Given the description of an element on the screen output the (x, y) to click on. 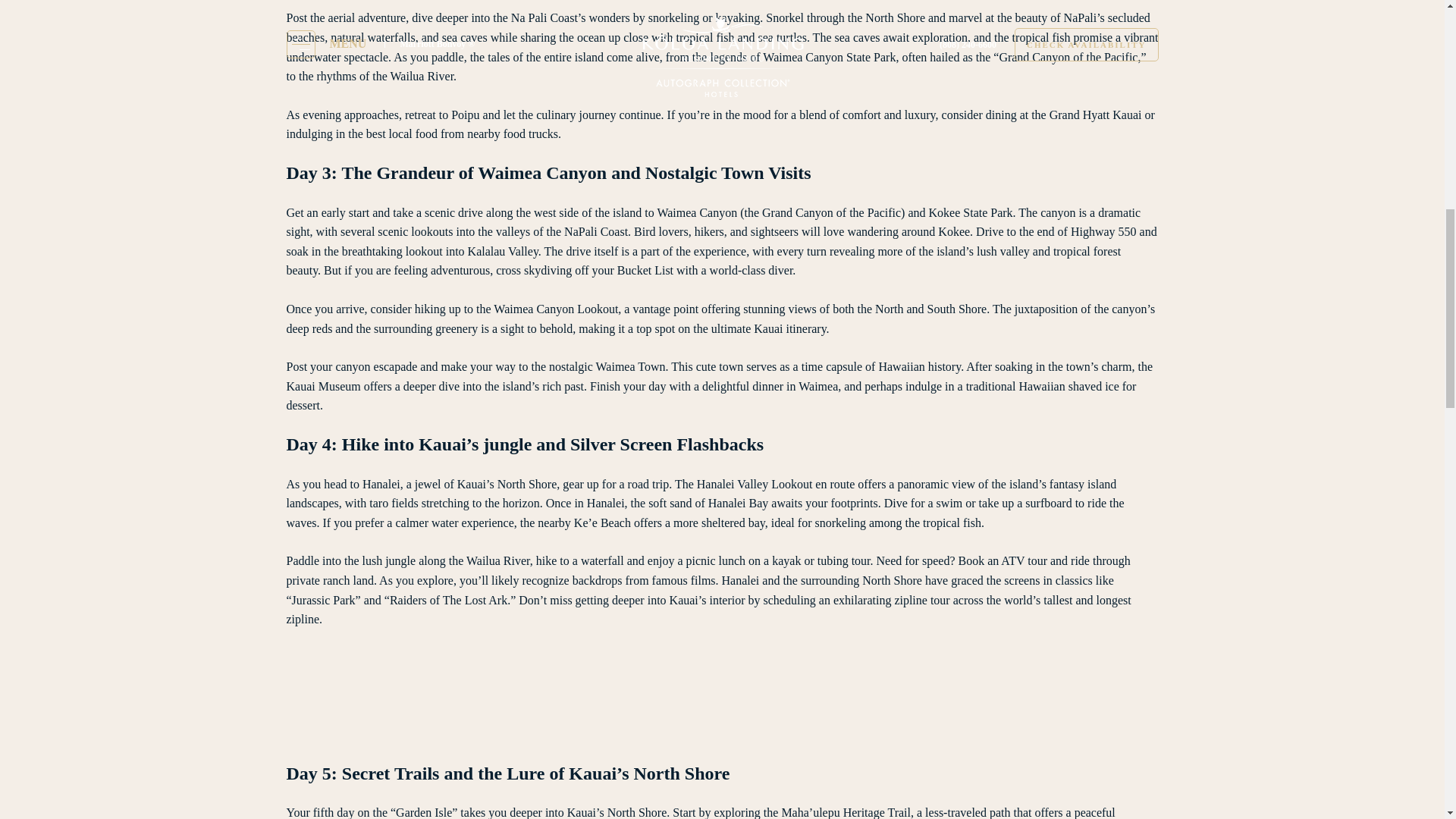
North Shore (894, 17)
Wailua River (497, 560)
Waimea Canyon (696, 212)
